Given the description of an element on the screen output the (x, y) to click on. 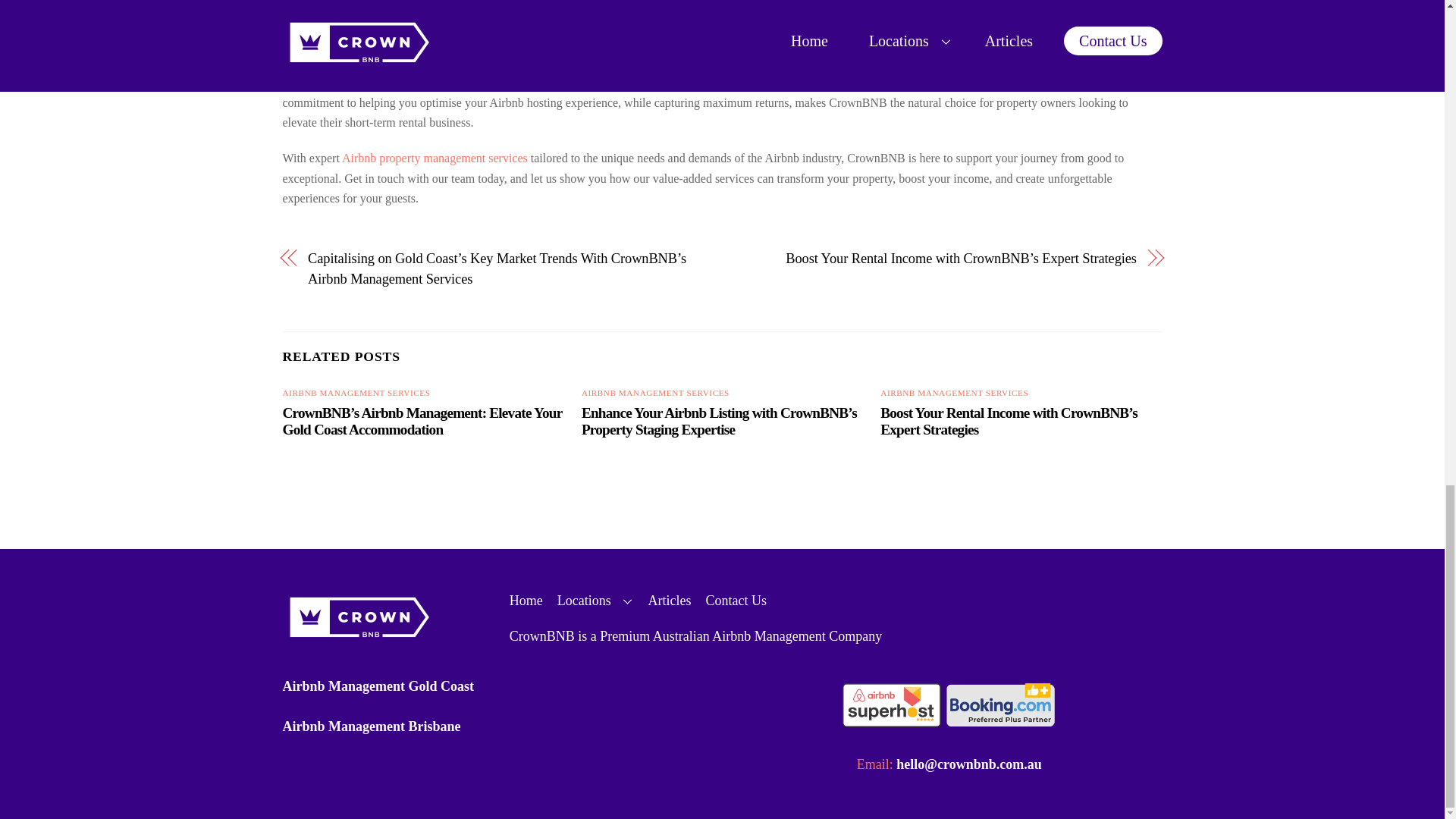
AIRBNB MANAGEMENT SERVICES (654, 392)
AIRBNB MANAGEMENT SERVICES (355, 392)
Airbnb property management services (434, 157)
Airbnb Management Brisbane (371, 726)
Articles (669, 600)
Best Airbnb Management Company Australia - CrownBNB (357, 639)
Locations (595, 600)
Home (526, 600)
Airbnb Management Gold Coast (378, 685)
AIRBNB MANAGEMENT SERVICES (953, 392)
Contact Us (735, 600)
CrownBNB is a Premium Australian Airbnb Management Company (695, 635)
